Given the description of an element on the screen output the (x, y) to click on. 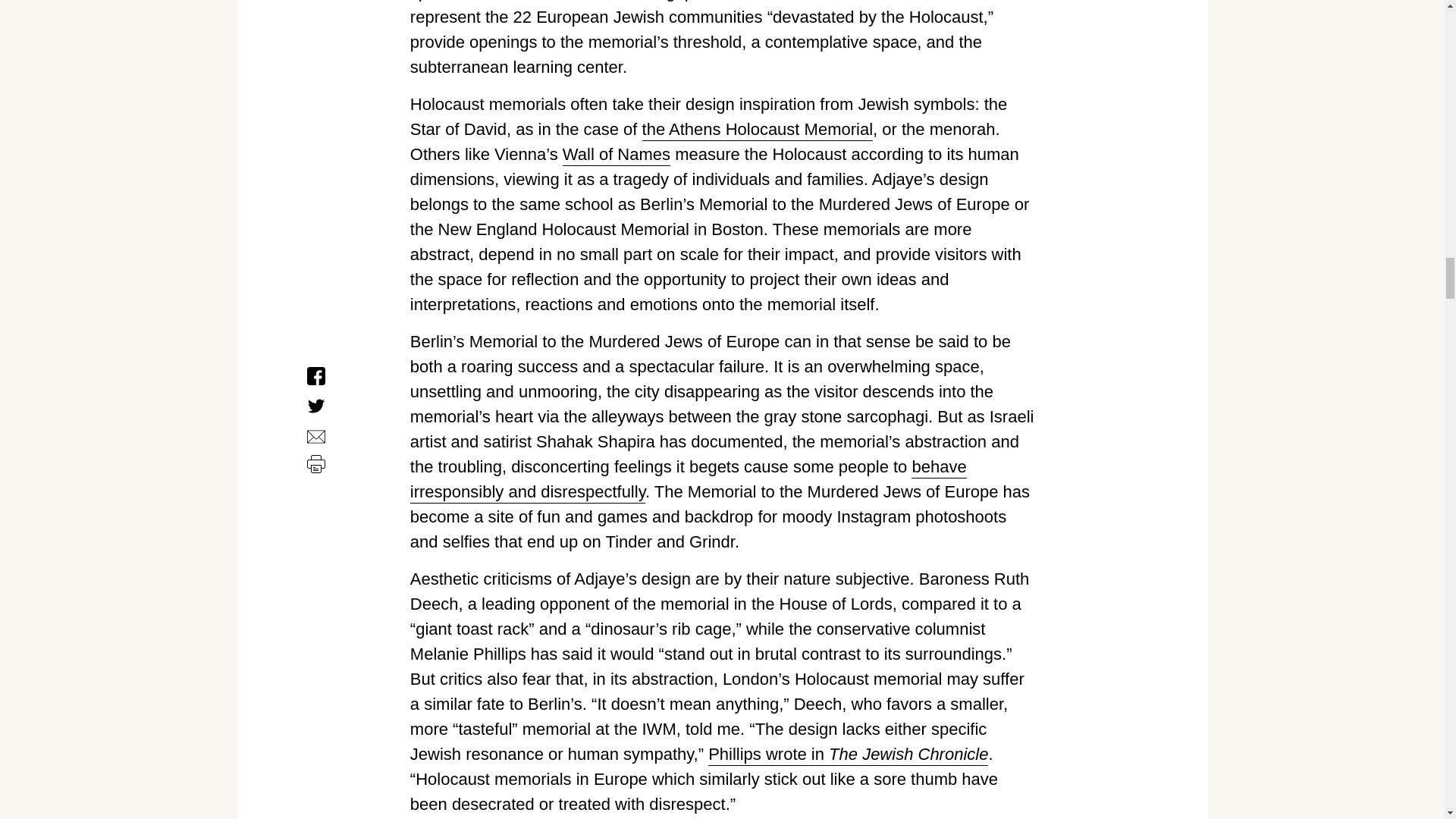
the Athens Holocaust Memorial (757, 129)
behave irresponsibly and disrespectfully (688, 479)
Phillips wrote in The Jewish Chronicle (847, 754)
Wall of Names (615, 154)
